Given the description of an element on the screen output the (x, y) to click on. 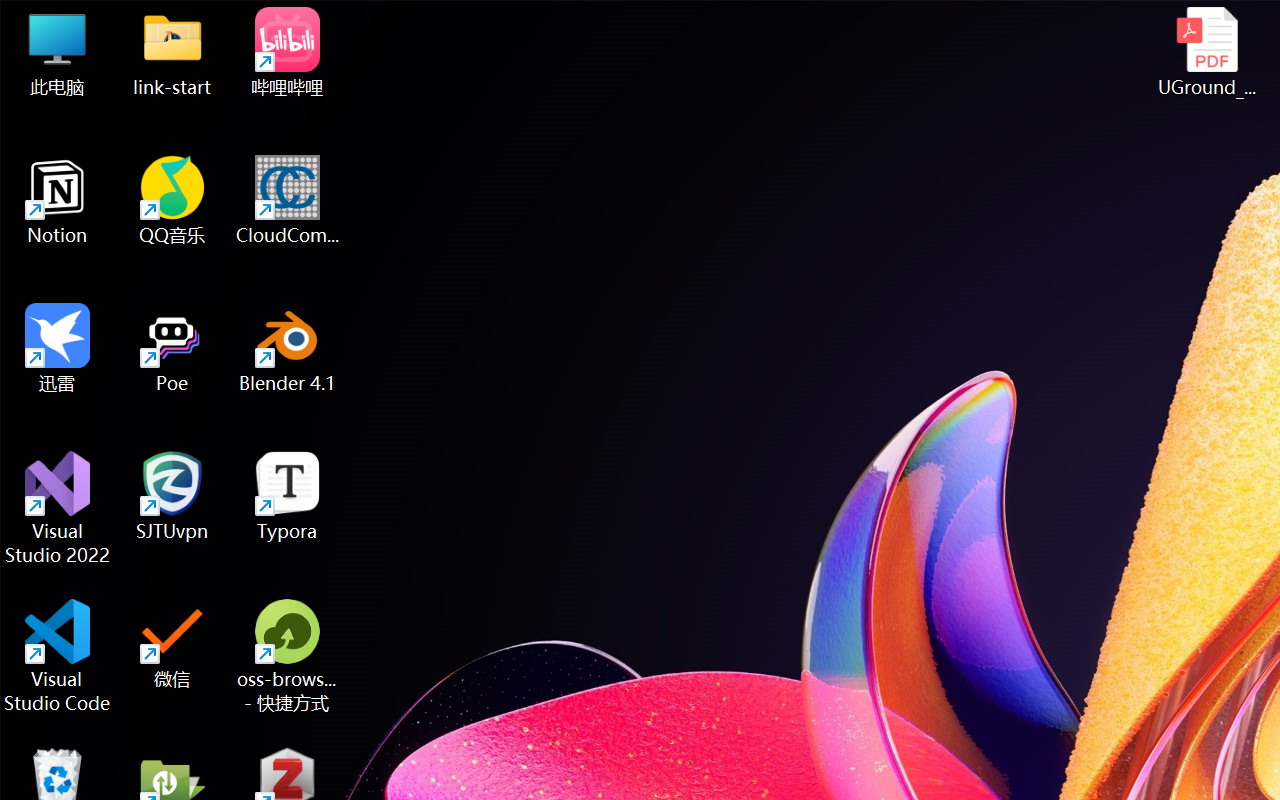
UGround_paper.pdf (1206, 52)
Visual Studio Code (57, 656)
Visual Studio 2022 (57, 508)
Blender 4.1 (287, 348)
Typora (287, 496)
CloudCompare (287, 200)
